Given the description of an element on the screen output the (x, y) to click on. 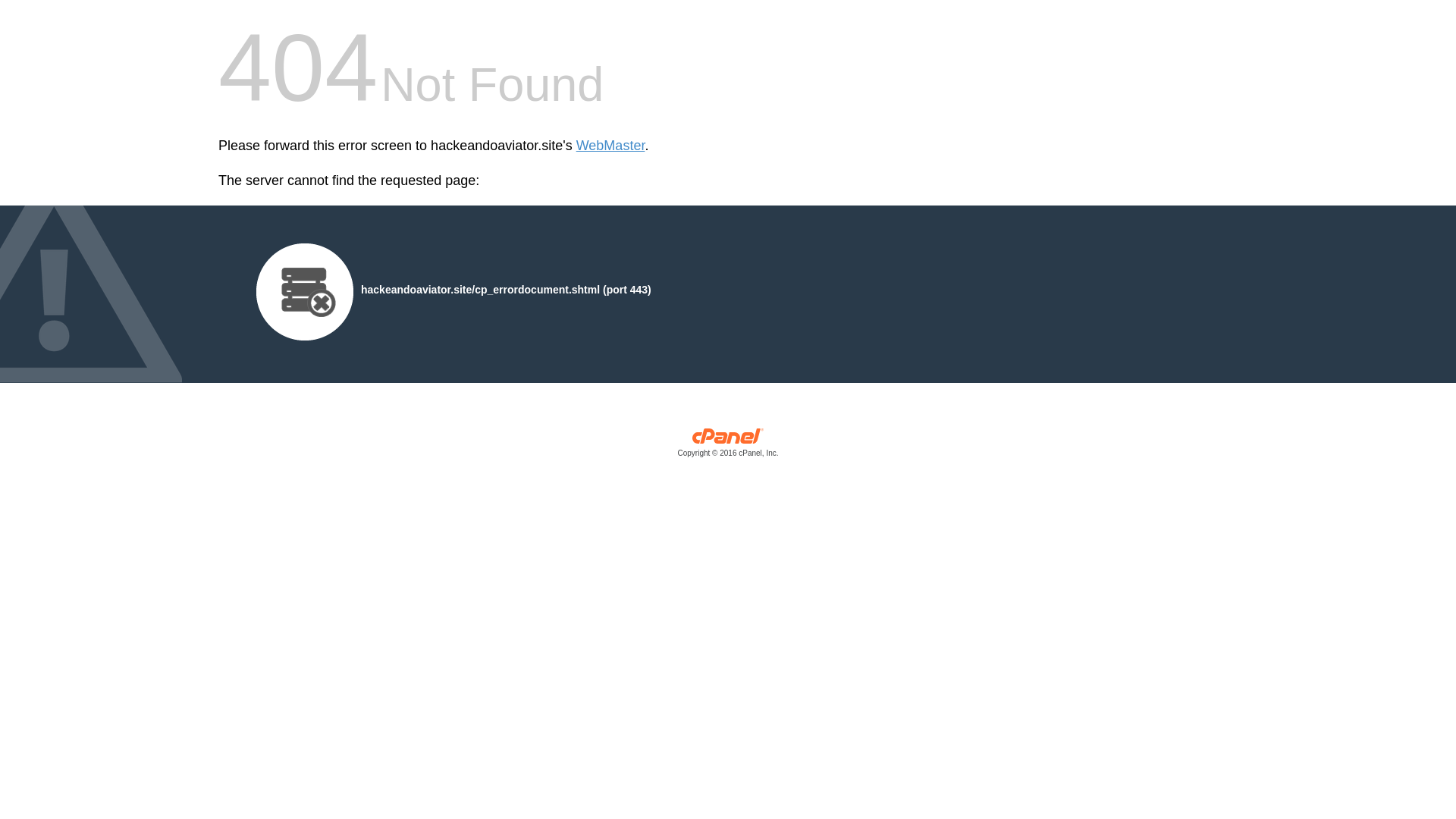
cPanel, Inc. (727, 446)
WebMaster (610, 145)
